Given the description of an element on the screen output the (x, y) to click on. 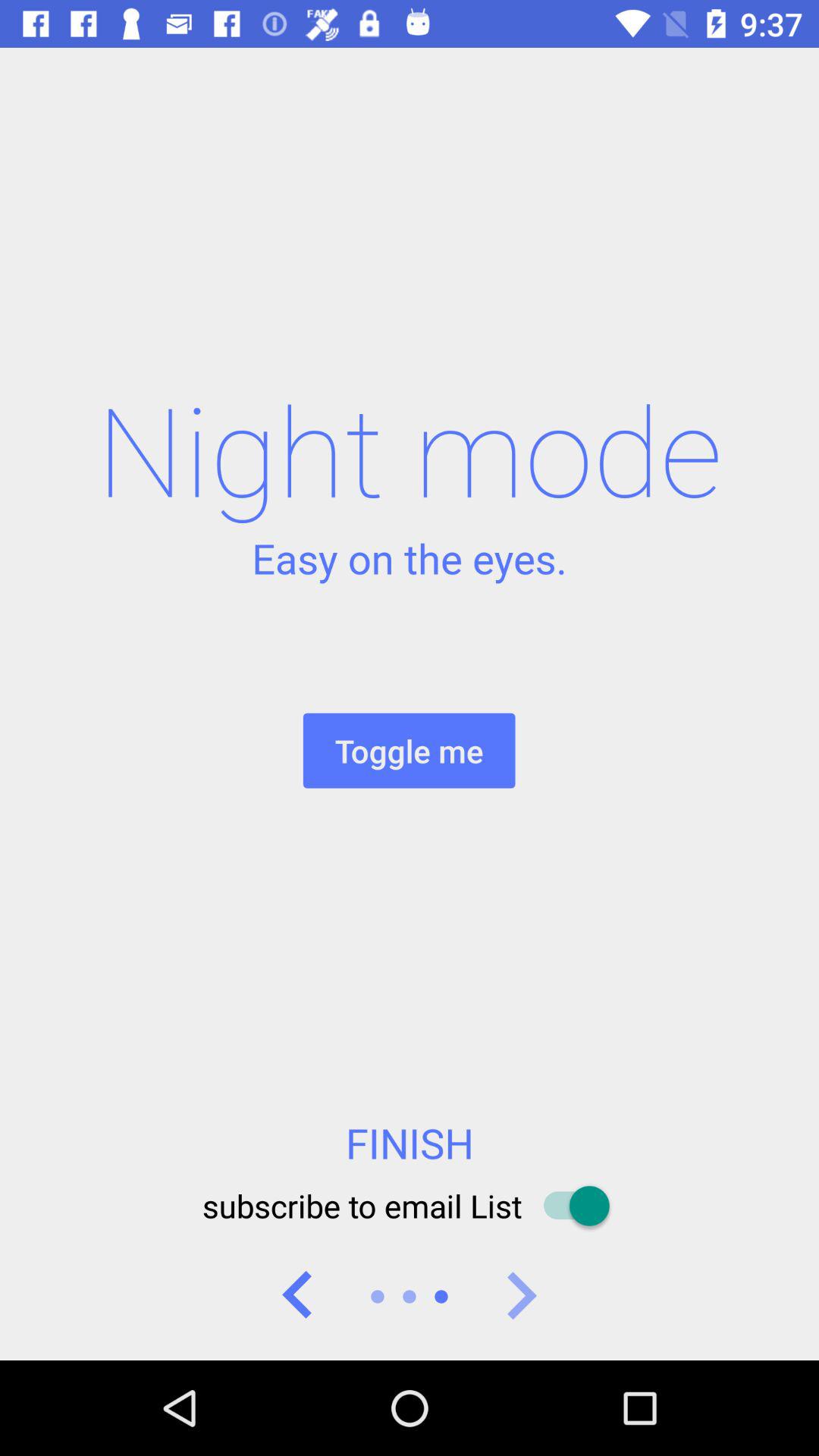
turn on item above finish icon (409, 750)
